Given the description of an element on the screen output the (x, y) to click on. 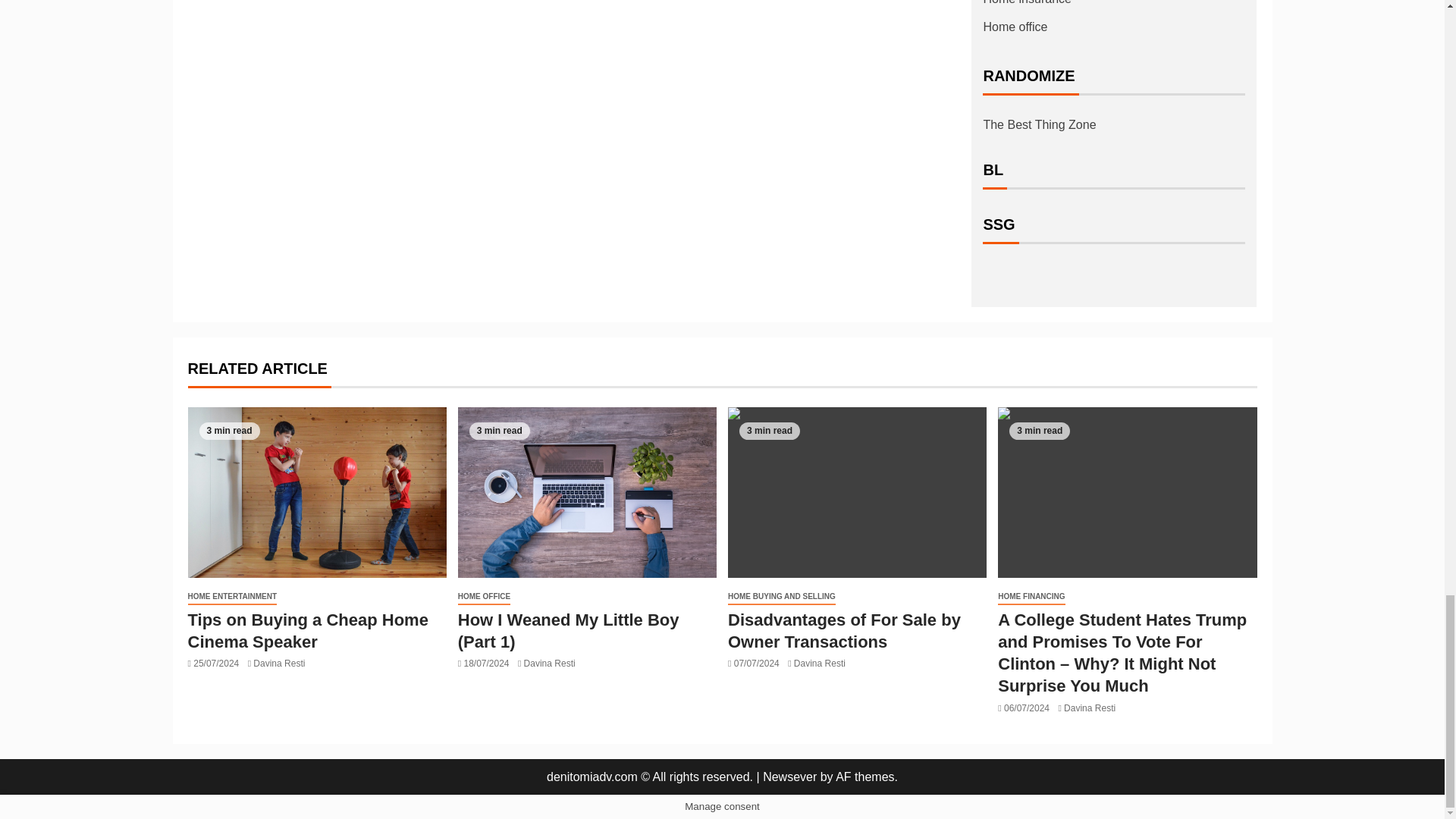
Tips on Buying a Cheap Home Cinema Speaker (316, 492)
Disadvantages of For Sale by Owner Transactions (857, 492)
